Given the description of an element on the screen output the (x, y) to click on. 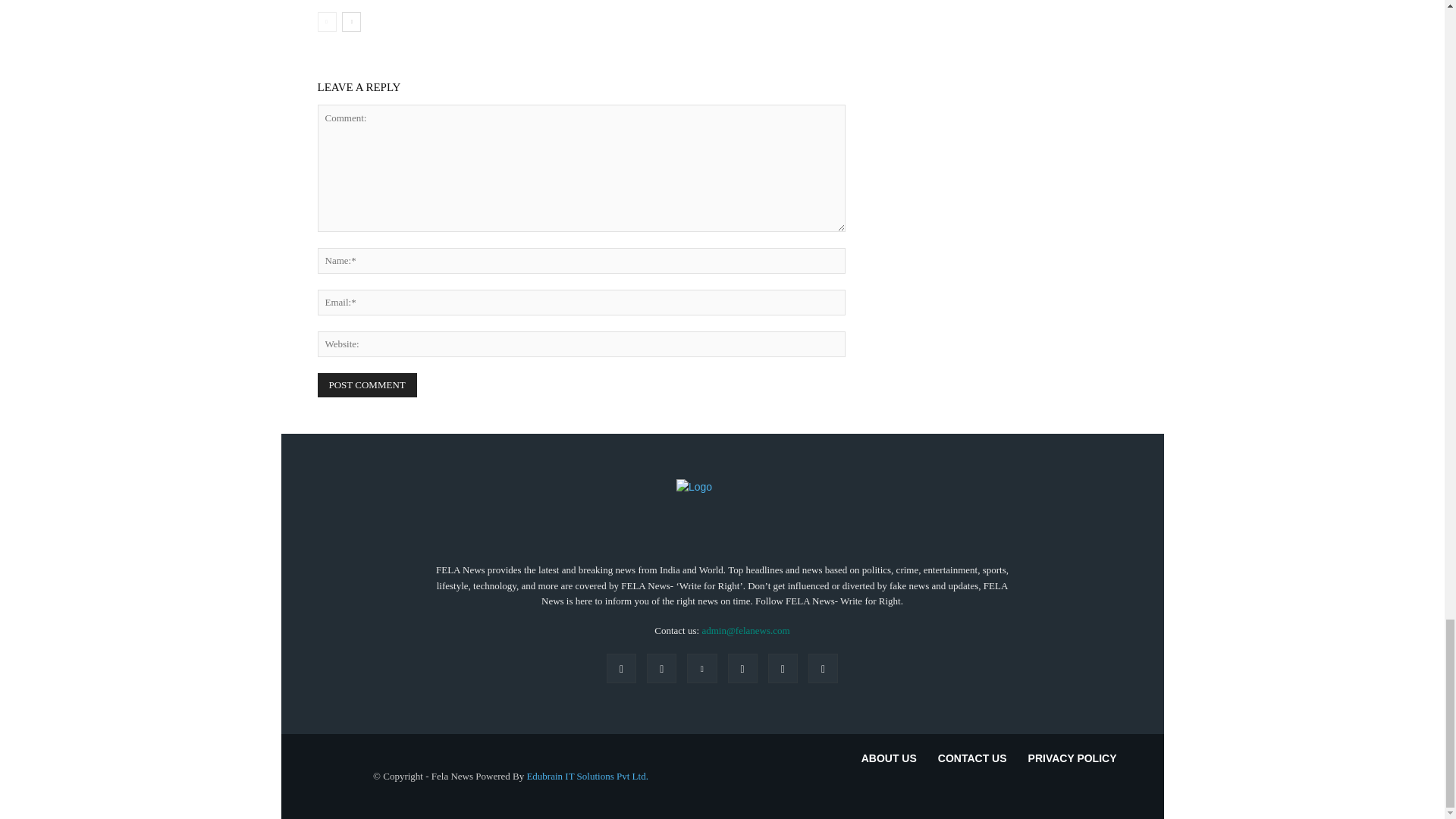
Post Comment (366, 385)
